Given the description of an element on the screen output the (x, y) to click on. 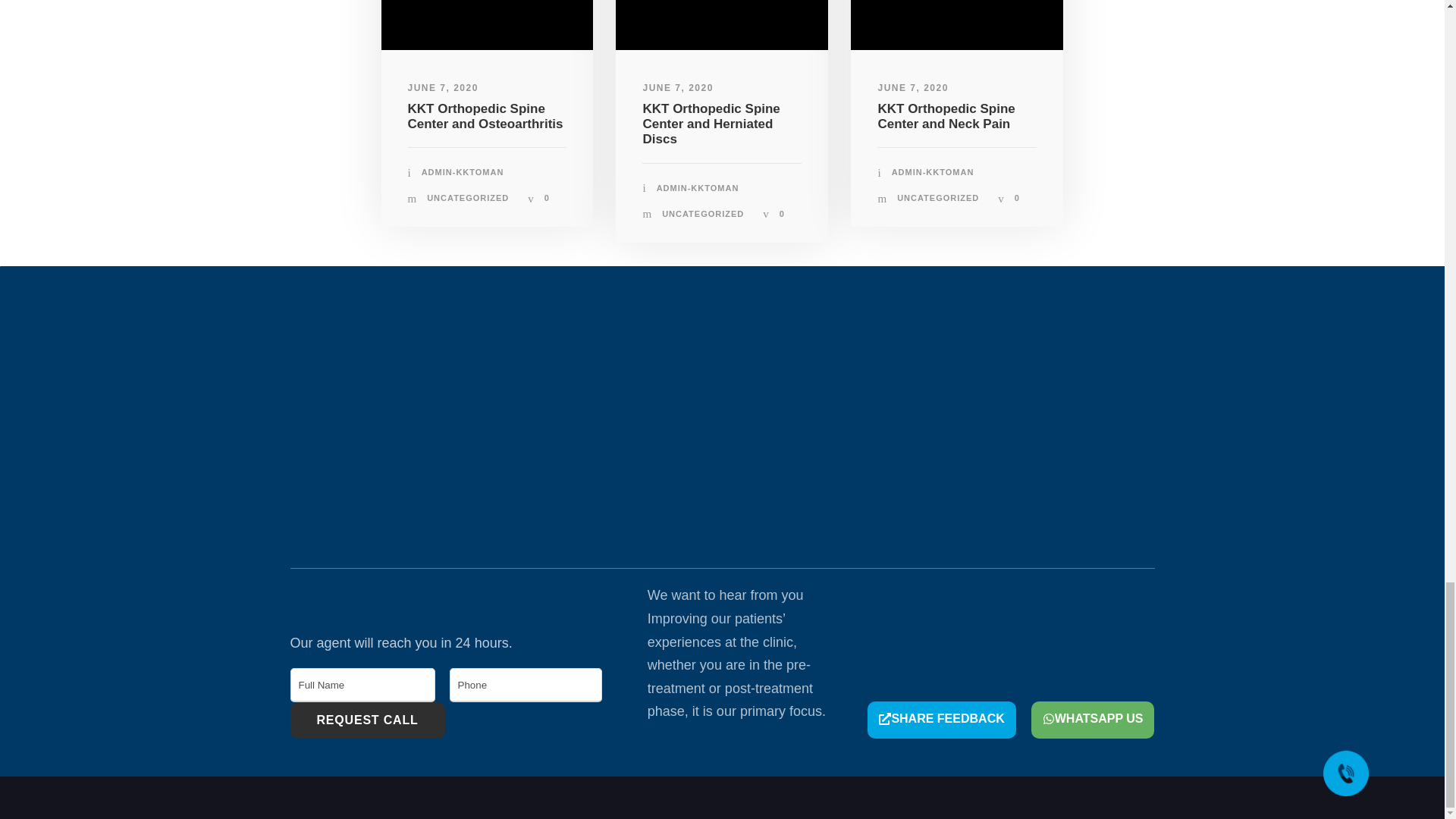
JUNE 7, 2020 (443, 87)
kkt-article-neckpain (956, 25)
ADMIN-KKTOMAN (462, 171)
kkt-article-herniated-disc (721, 25)
KKT Orthopedic Spine Center and Osteoarthritis (485, 116)
UNCATEGORIZED (467, 197)
Posts by admin-kktoman (932, 171)
kkt-article-osteoarthritis (486, 25)
Posts by admin-kktoman (462, 171)
Posts by admin-kktoman (697, 187)
